Given the description of an element on the screen output the (x, y) to click on. 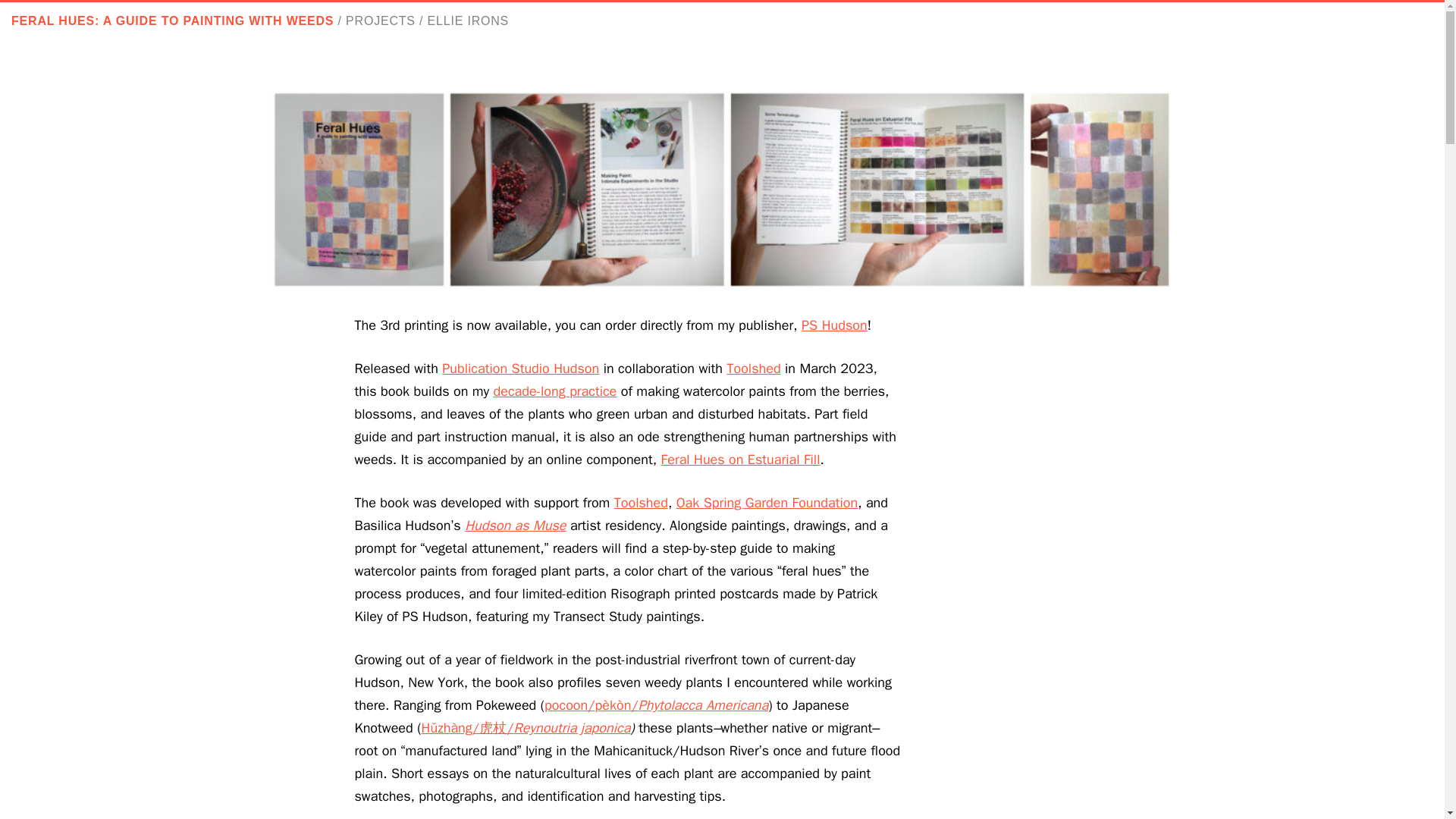
Hudson as Muse (515, 524)
Publication Studio Hudson (520, 368)
Feral Hues on Estuarial Fill (741, 459)
Toolshed (641, 502)
Oak Spring Garden Foundation (767, 502)
FERAL HUES: A GUIDE TO PAINTING WITH WEEDS (172, 20)
decade-long practice (554, 391)
Toolshed (753, 368)
PROJECTS (380, 20)
PS Hudson (834, 324)
